Given the description of an element on the screen output the (x, y) to click on. 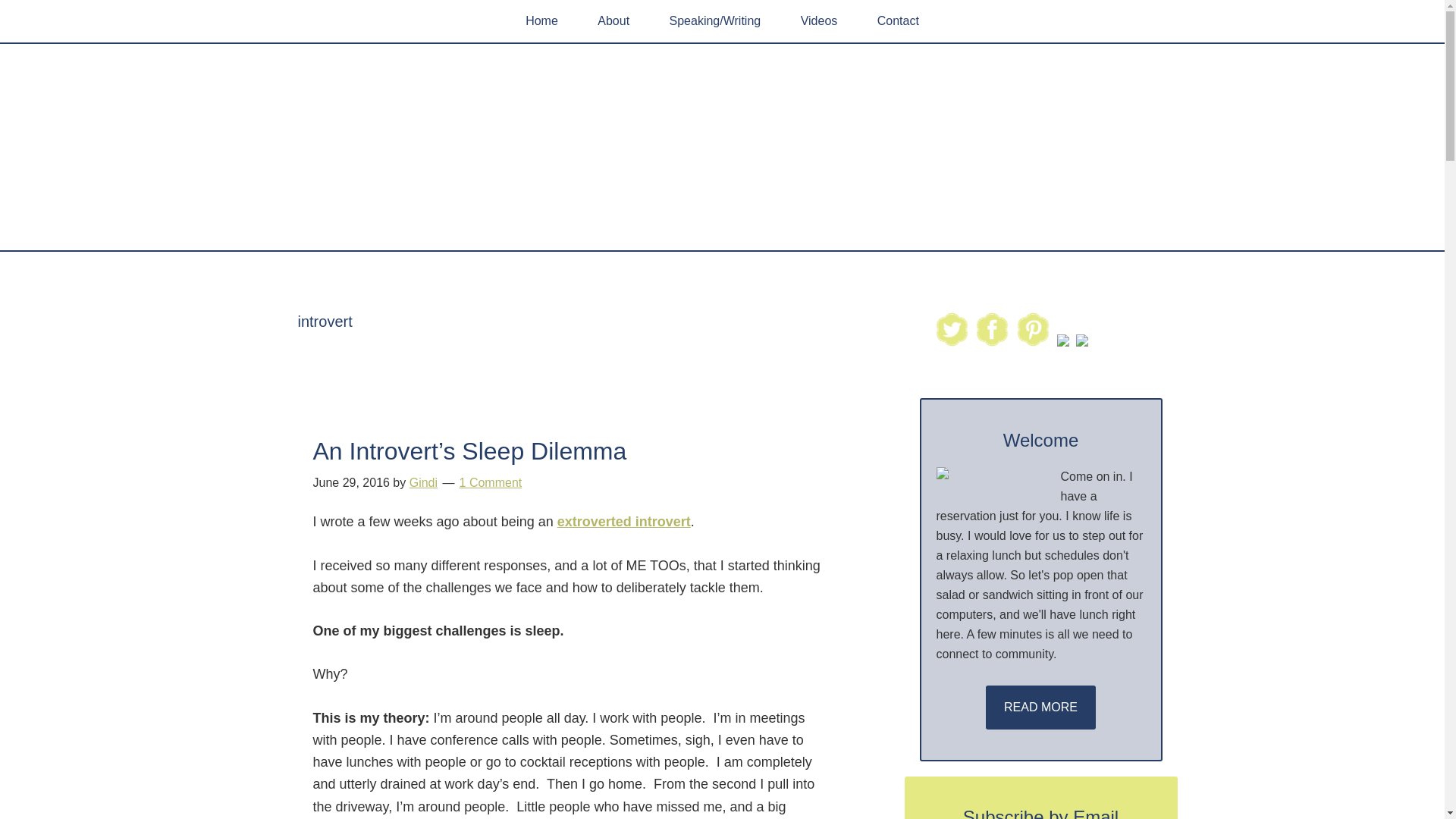
Contact (898, 21)
Home (541, 21)
Videos (819, 21)
Gindi (423, 481)
extroverted introvert (623, 521)
READ MORE (1040, 707)
1 Comment (491, 481)
About (613, 21)
